Given the description of an element on the screen output the (x, y) to click on. 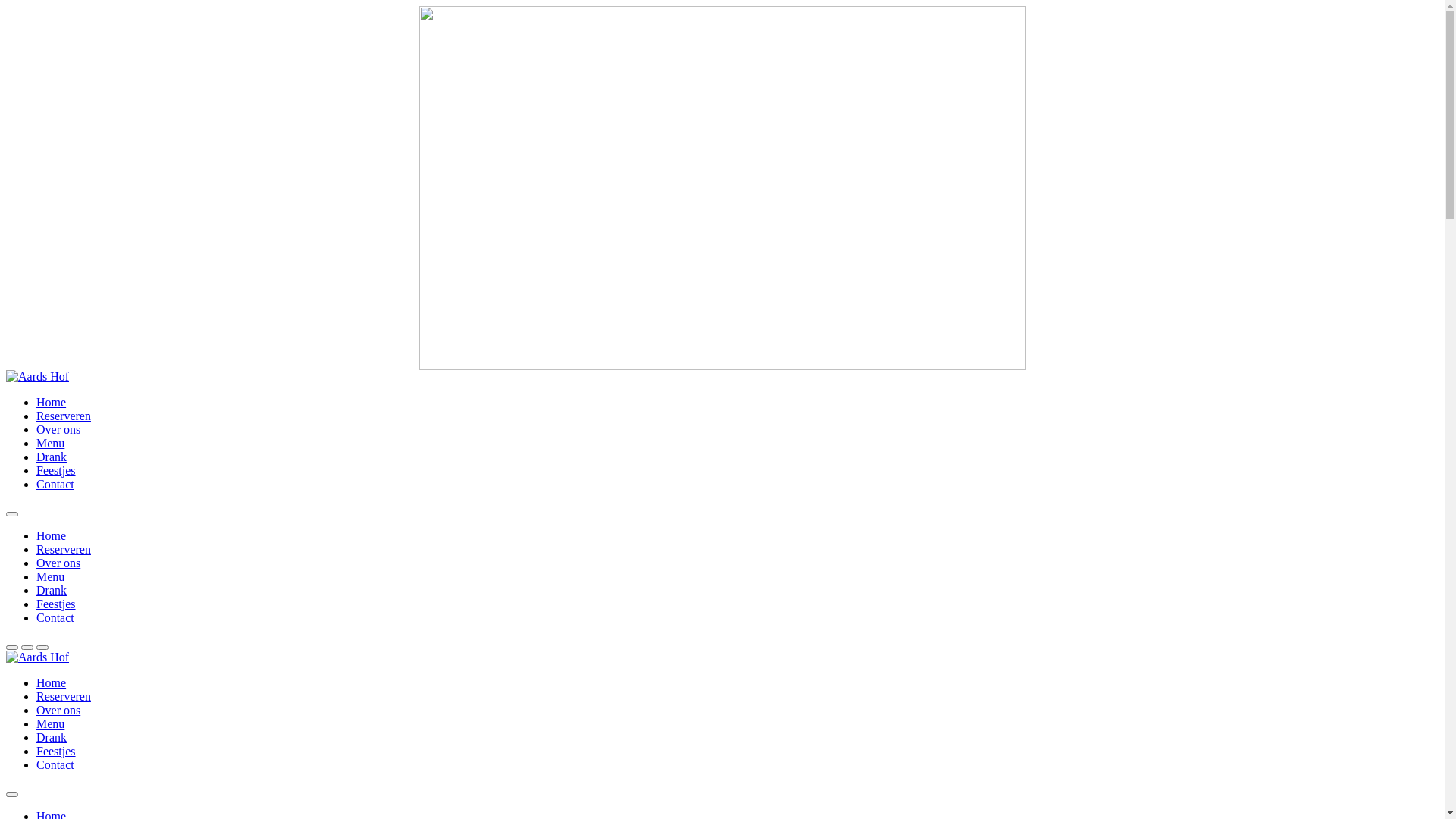
Over ons Element type: text (58, 709)
Home Element type: text (50, 682)
Drank Element type: text (51, 737)
Reserveren Element type: text (63, 696)
Feestjes Element type: text (55, 470)
Feestjes Element type: text (55, 750)
Contact Element type: text (55, 617)
Contact Element type: text (55, 764)
Menu Element type: text (50, 442)
Reserveren Element type: text (63, 415)
Skip to content Element type: text (5, 5)
Home Element type: text (50, 535)
Drank Element type: text (51, 589)
Home Element type: text (50, 401)
Reserveren Element type: text (63, 548)
Menu Element type: text (50, 576)
Contact Element type: text (55, 483)
Feestjes Element type: text (55, 603)
Menu Element type: text (50, 723)
Over ons Element type: text (58, 429)
Drank Element type: text (51, 456)
Over ons Element type: text (58, 562)
